Given the description of an element on the screen output the (x, y) to click on. 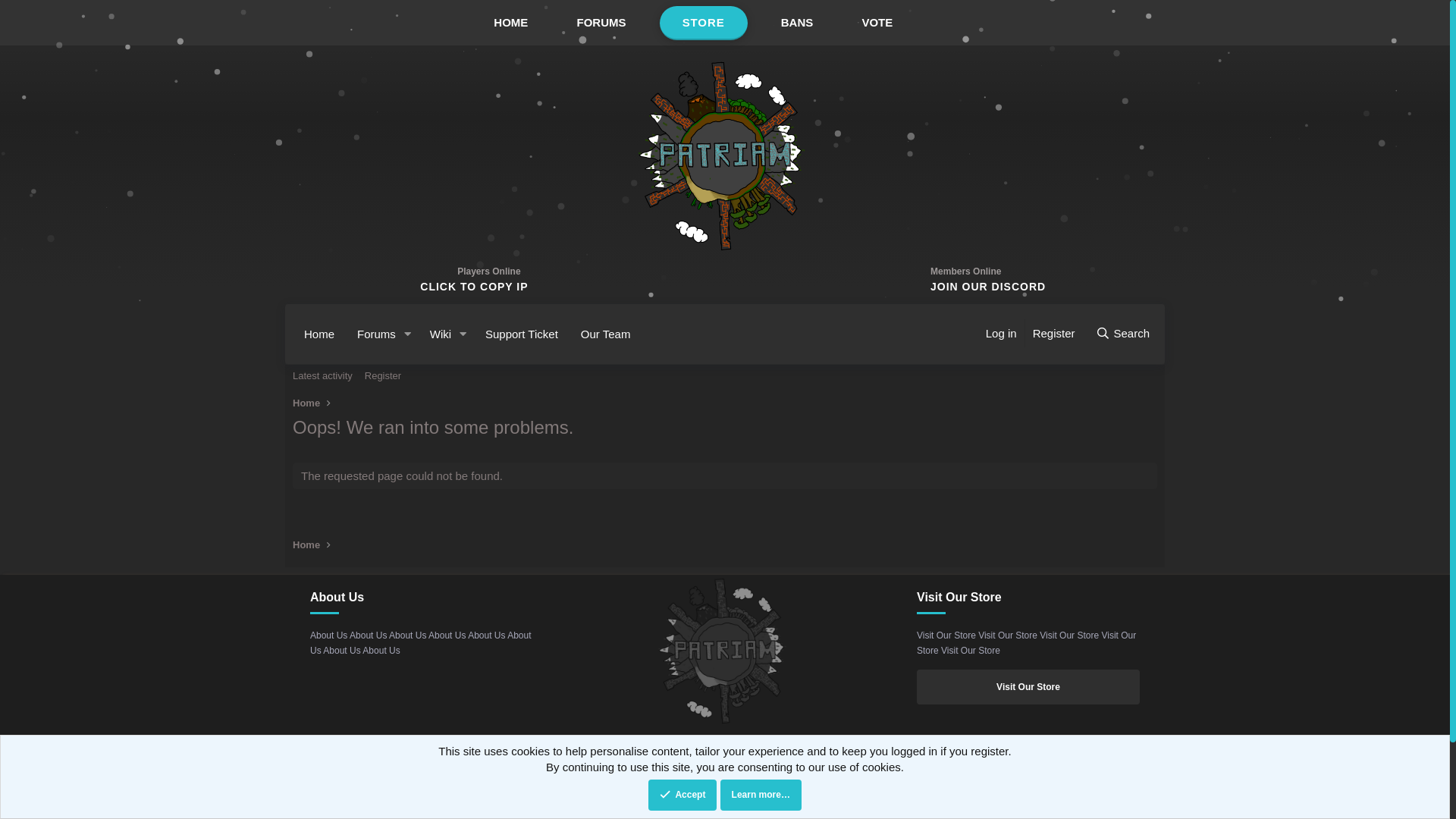
Wiki Element type: text (435, 334)
Search Element type: text (1122, 333)
Latest activity Element type: text (322, 375)
Home Element type: text (306, 403)
Support Ticket Element type: text (521, 334)
STORE Element type: text (703, 23)
Home Element type: text (306, 544)
Register Element type: text (1053, 333)
Visit Our Store Element type: text (1027, 686)
BANS Element type: text (797, 21)
Accept Element type: text (682, 794)
HOME Element type: text (510, 21)
VOTE Element type: text (876, 21)
Register Element type: text (382, 375)
CLICK TO COPY IP Element type: text (473, 286)
FORUMS Element type: text (600, 21)
Home Element type: text (318, 334)
Our Team Element type: text (605, 334)
Forums Element type: text (371, 334)
Log in Element type: text (1001, 333)
JOIN OUR DISCORD Element type: text (984, 285)
